Given the description of an element on the screen output the (x, y) to click on. 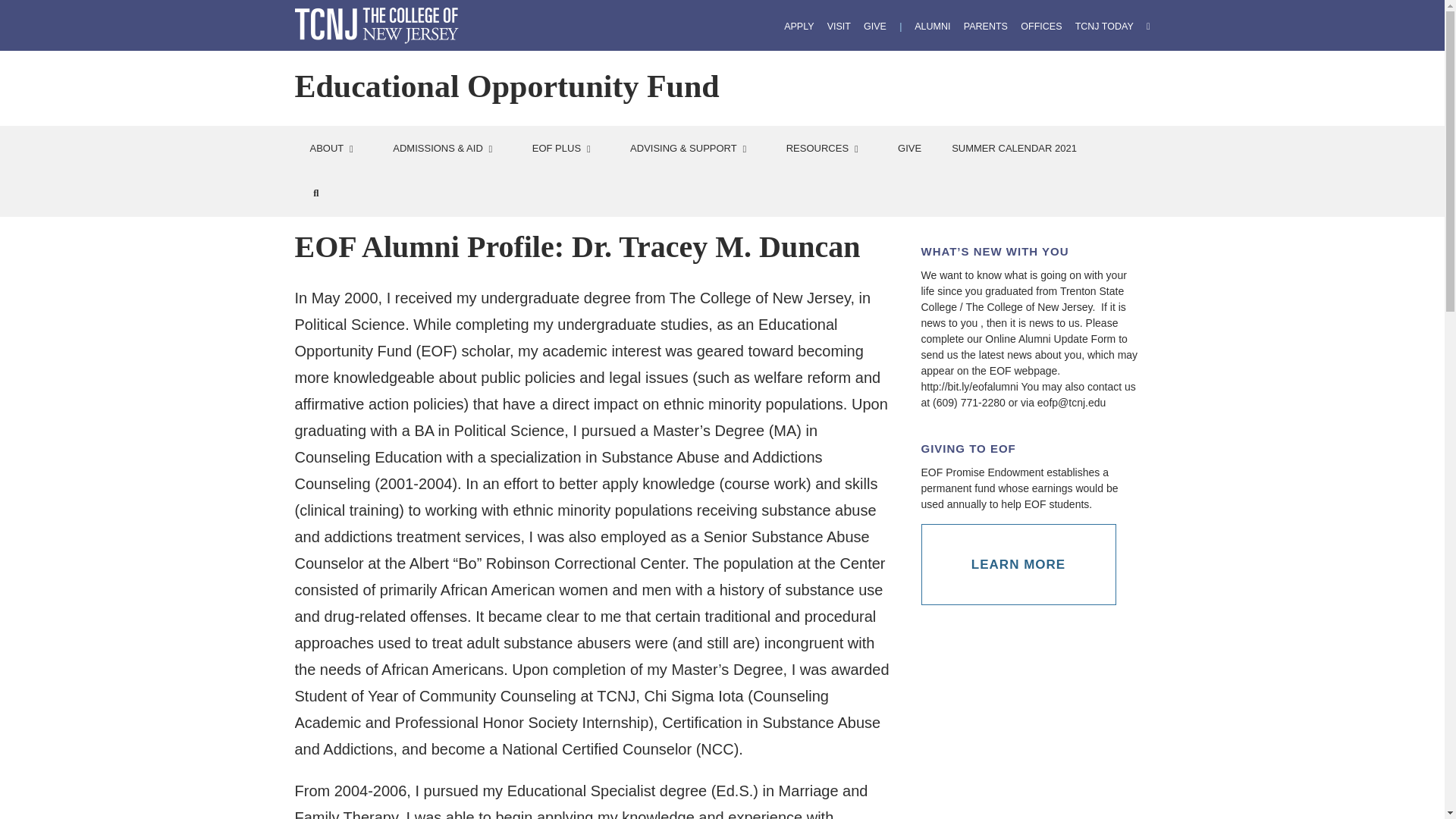
PARENTS (985, 26)
APPLY (798, 26)
GIVE (874, 26)
ABOUT (335, 148)
ALUMNI (932, 26)
OFFICES (1040, 26)
TCNJ TODAY (1104, 26)
submit (22, 10)
Educational Opportunity Fund (506, 86)
VISIT (838, 26)
